Given the description of an element on the screen output the (x, y) to click on. 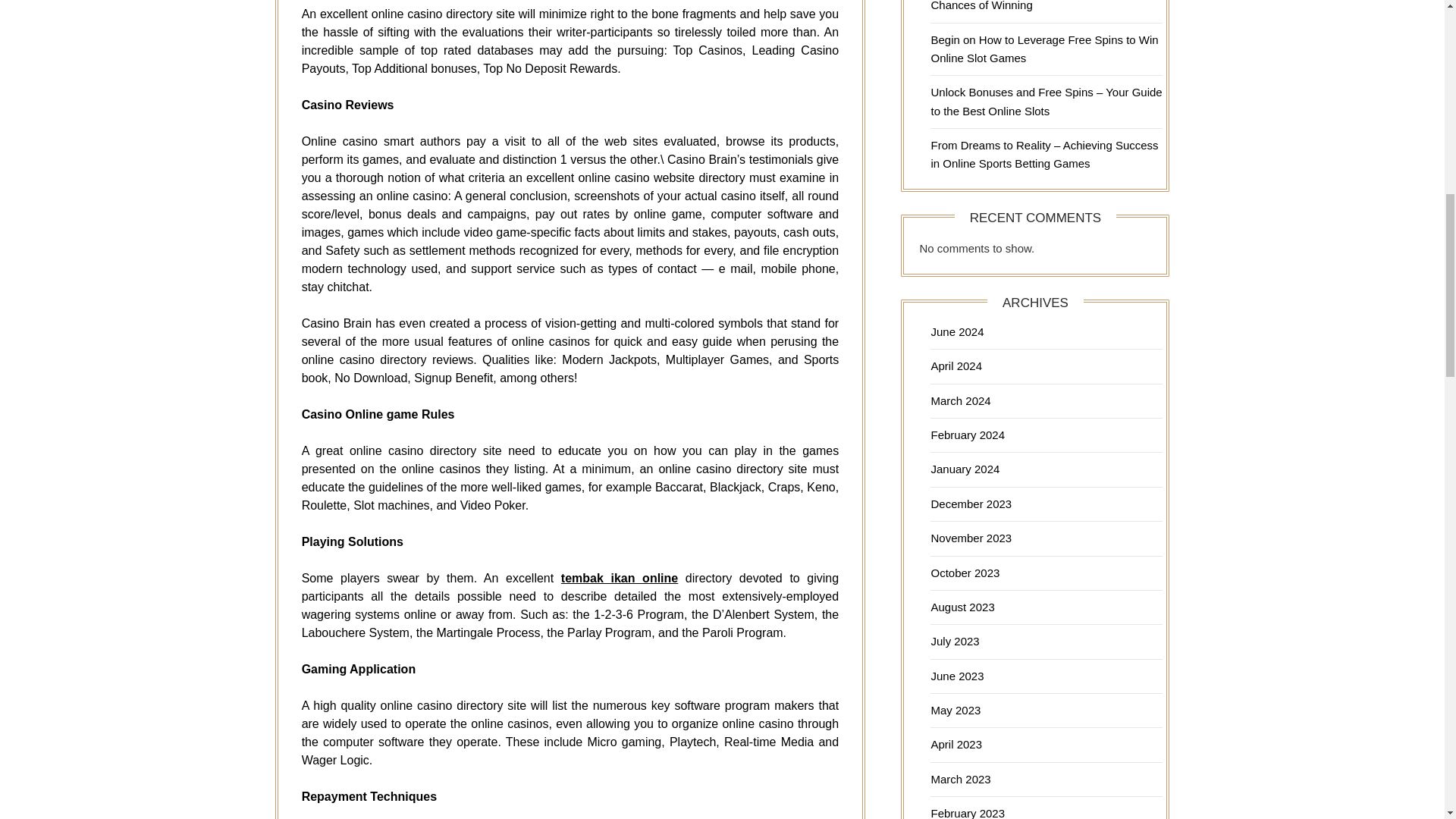
October 2023 (964, 572)
December 2023 (970, 503)
November 2023 (970, 537)
June 2023 (957, 675)
January 2024 (964, 468)
July 2023 (954, 640)
March 2023 (960, 779)
August 2023 (962, 606)
February 2023 (967, 812)
Begin on How to Leverage Free Spins to Win Online Slot Games (1043, 48)
June 2024 (957, 331)
March 2024 (960, 400)
May 2023 (954, 709)
February 2024 (967, 434)
April 2024 (955, 365)
